Given the description of an element on the screen output the (x, y) to click on. 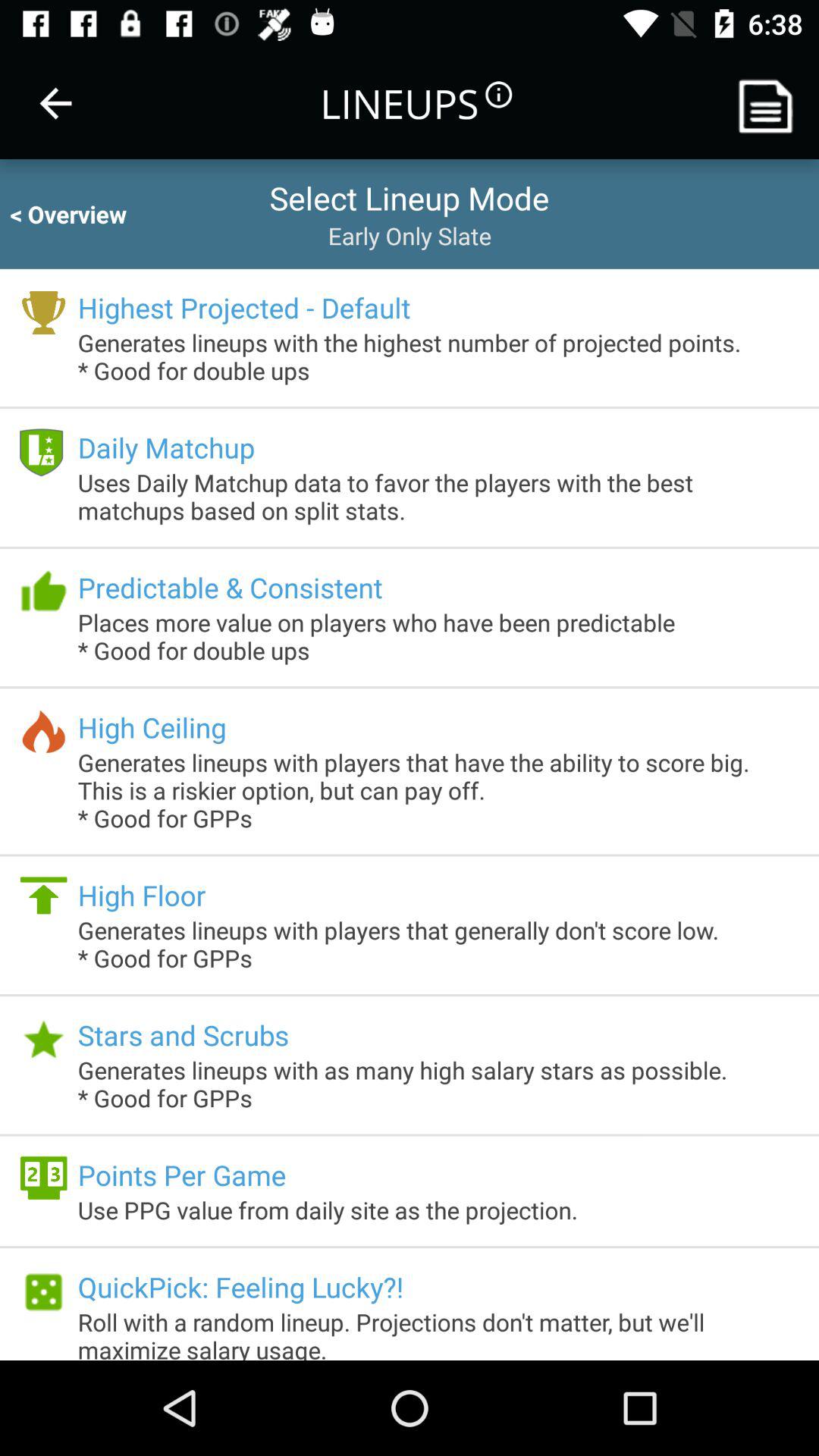
scroll to the < overview icon (81, 214)
